Given the description of an element on the screen output the (x, y) to click on. 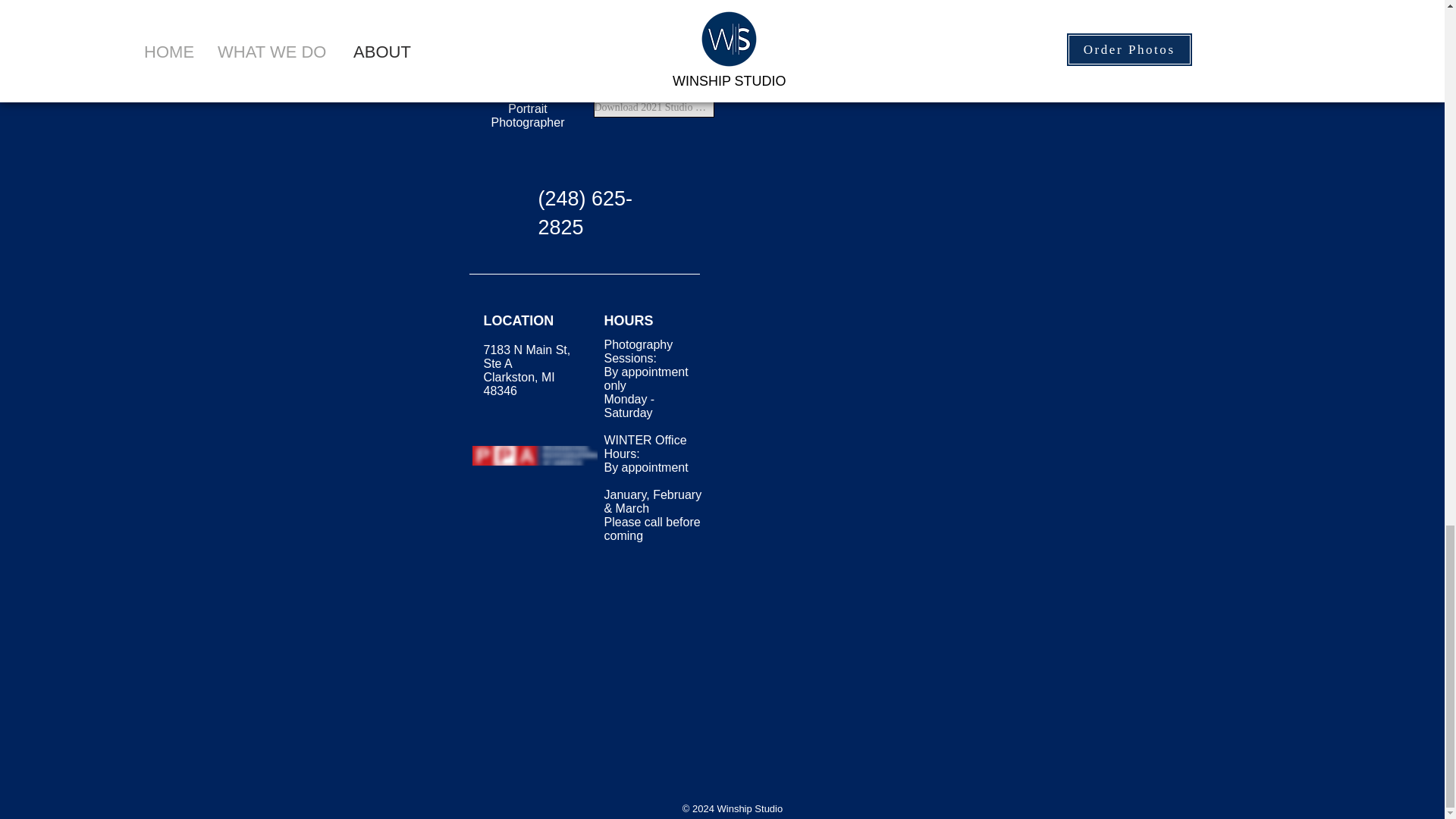
WINSHIP STUDIO (529, 87)
Embedded Content (853, 142)
QUICK LINKS (615, 7)
HOURS (628, 320)
Winship Seniors Website (652, 33)
LOCATION (518, 320)
Download 2021 Studio Guide (652, 107)
